Given the description of an element on the screen output the (x, y) to click on. 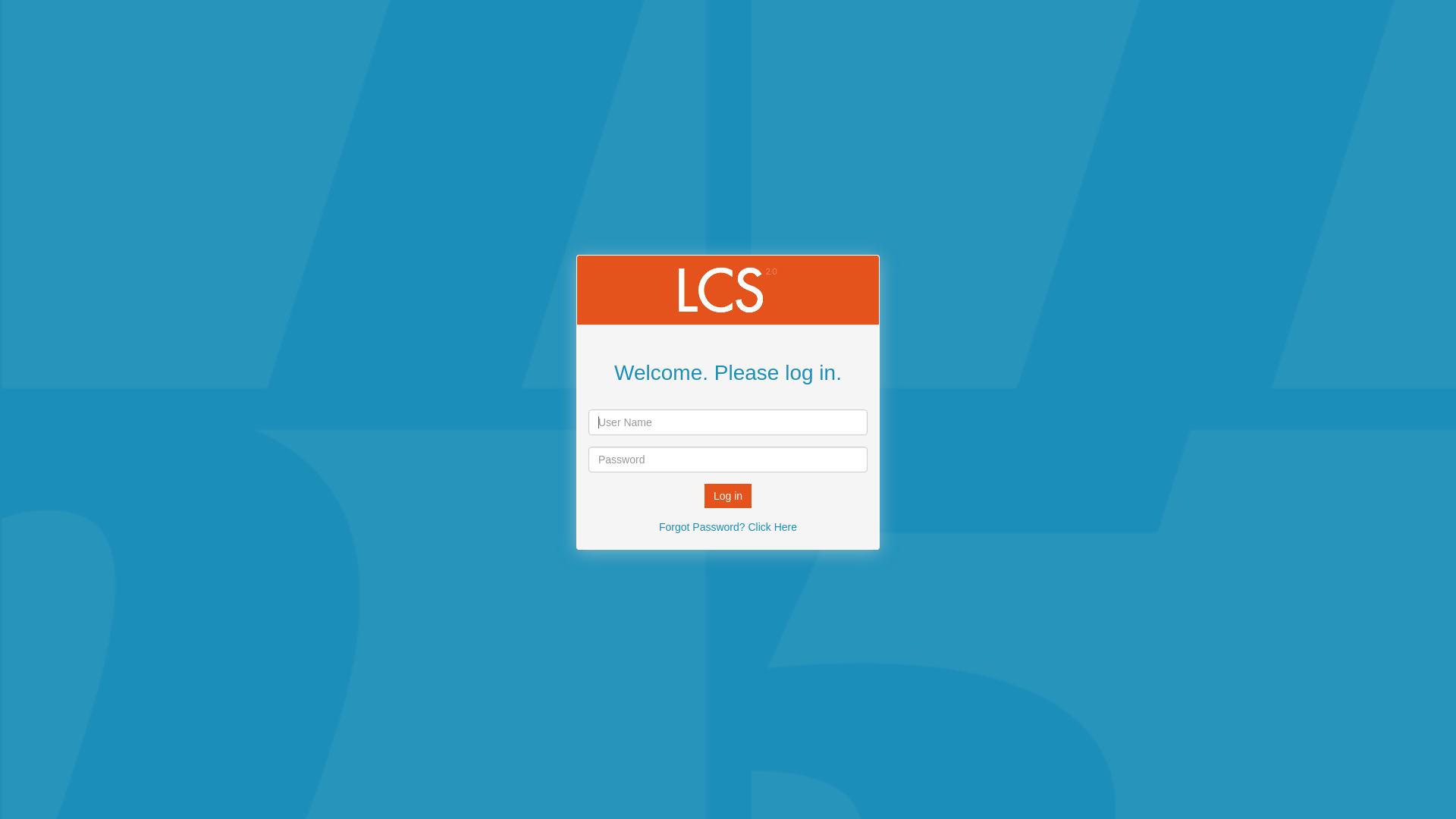
Forgot Password? Click Here Element type: text (727, 526)
Log in Element type: text (727, 495)
